Given the description of an element on the screen output the (x, y) to click on. 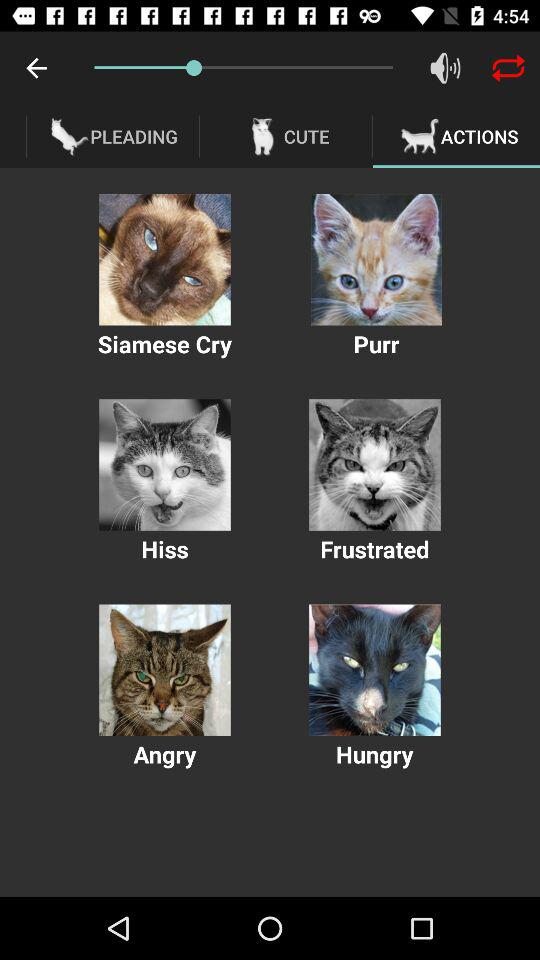
animal kind (376, 259)
